Given the description of an element on the screen output the (x, y) to click on. 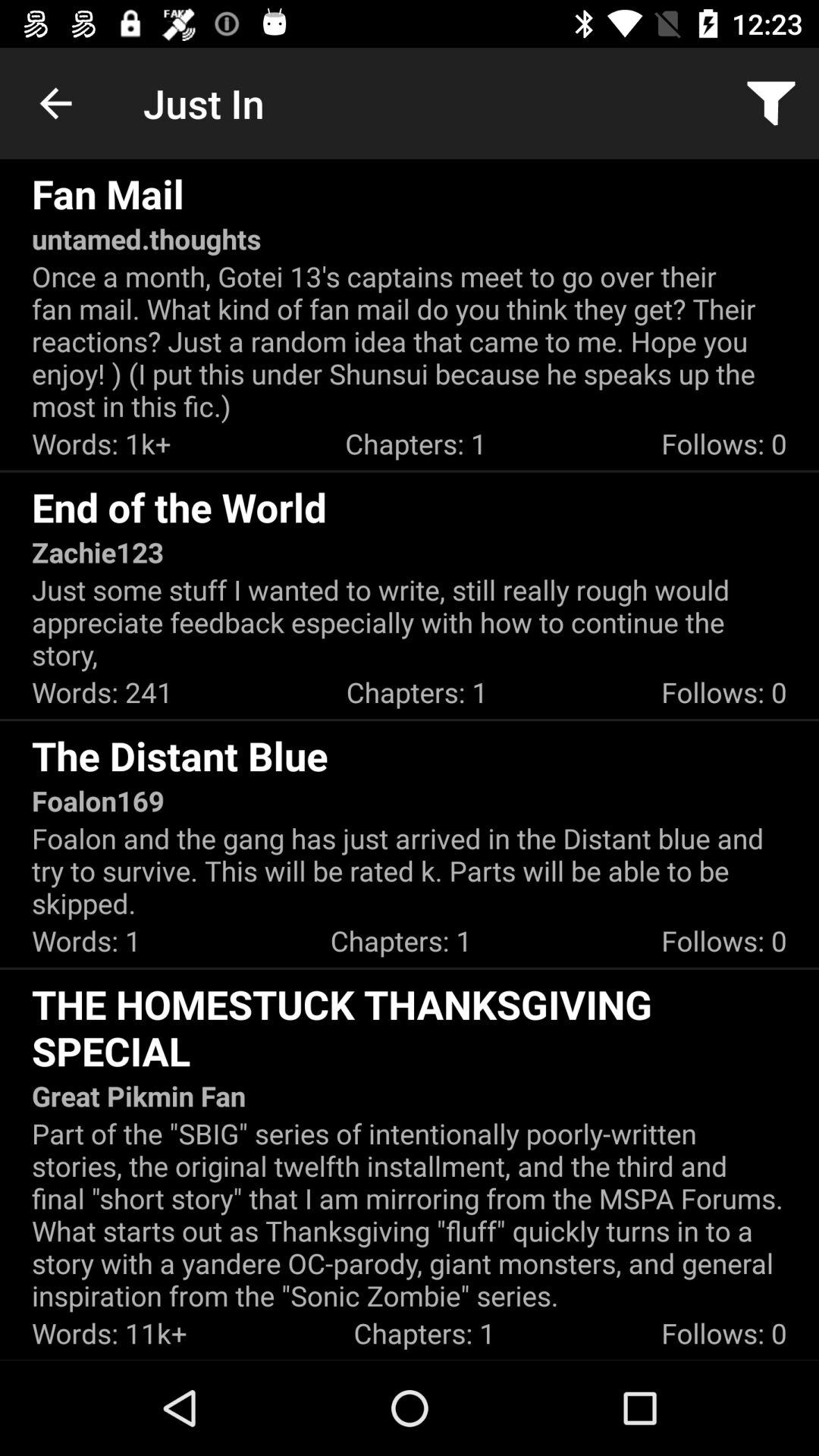
select the icon above the foalon and the item (97, 800)
